Given the description of an element on the screen output the (x, y) to click on. 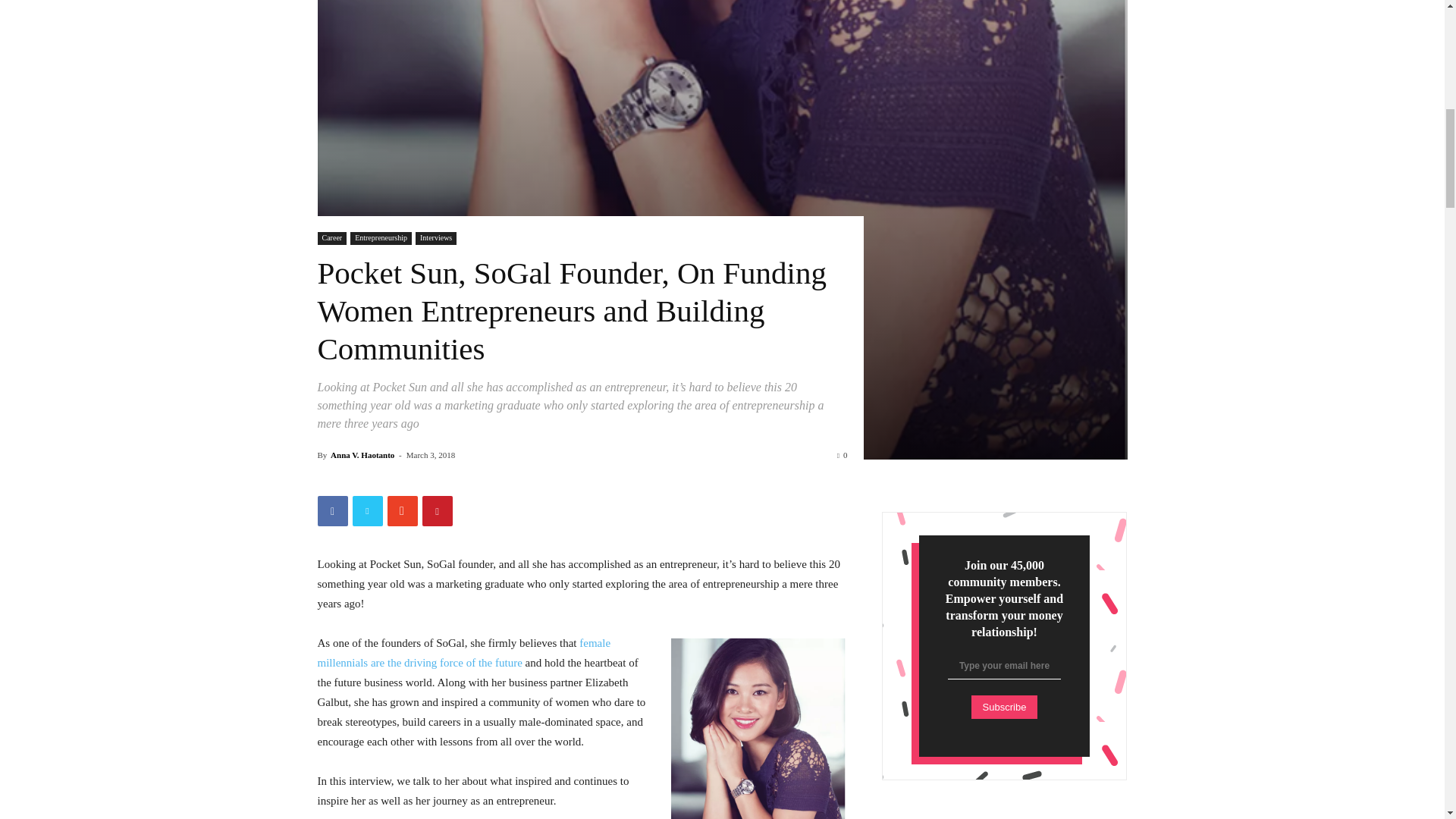
Subscribe (1004, 707)
